Given the description of an element on the screen output the (x, y) to click on. 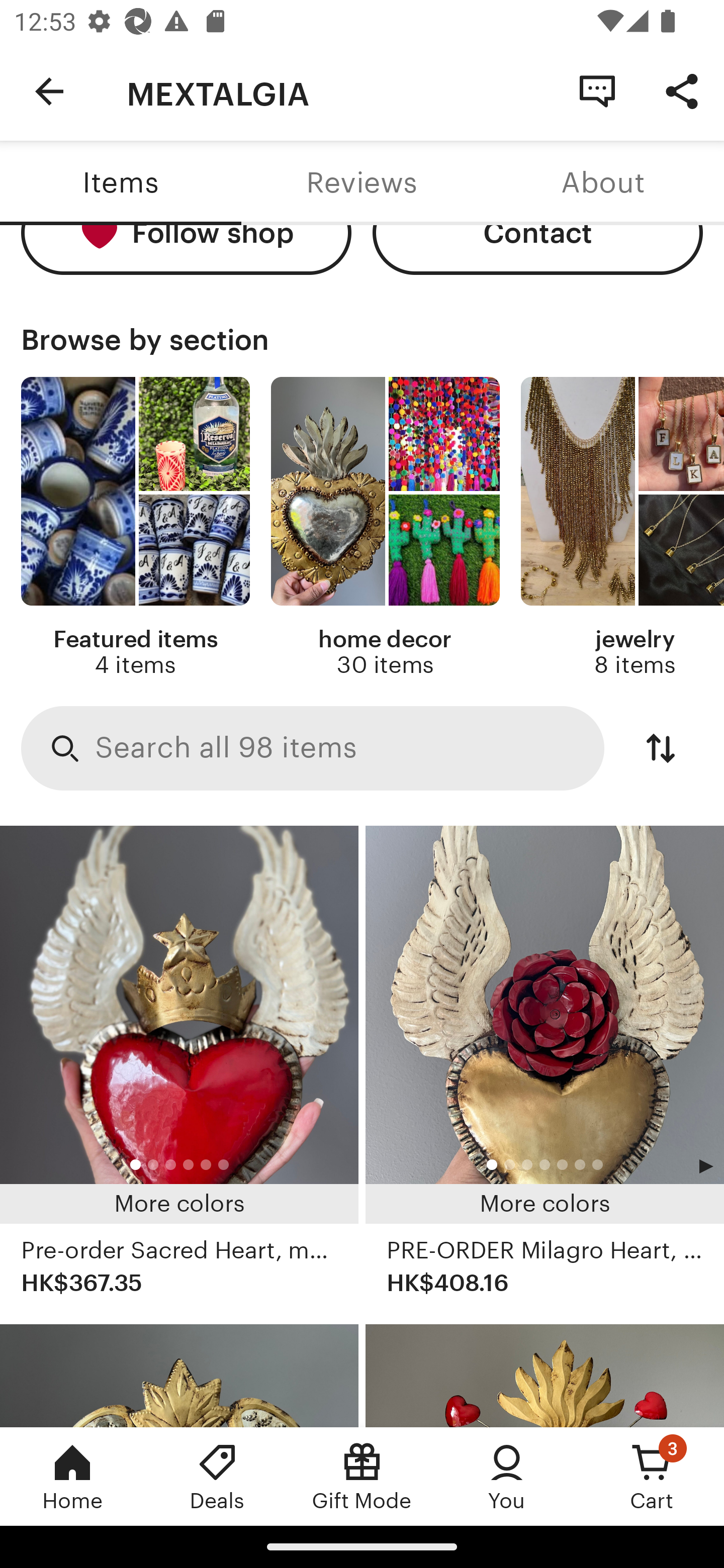
Navigate up (49, 91)
Contact Shop (597, 90)
Share (681, 90)
Reviews (361, 183)
About (603, 183)
Follow shop (185, 249)
Contact (537, 249)
Featured items 4 items (134, 526)
home decor 30 items (384, 526)
jewelry 8 items (622, 526)
Search Search all 98 items (312, 747)
Deals (216, 1475)
Gift Mode (361, 1475)
You (506, 1475)
Cart, 3 new notifications Cart (651, 1475)
